Given the description of an element on the screen output the (x, y) to click on. 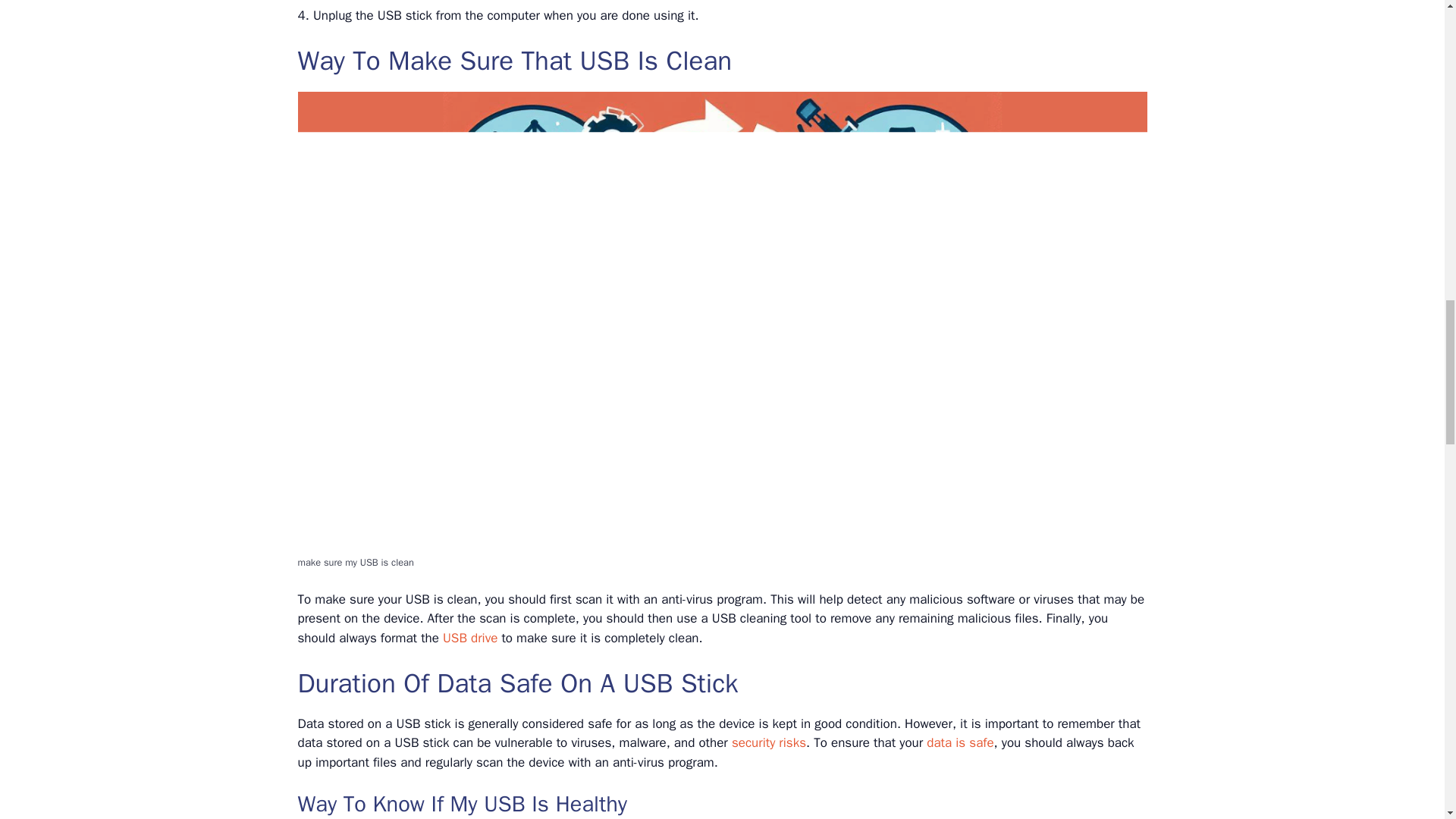
Four Habits That Will Help You Keep Your Data Safe (959, 742)
